Given the description of an element on the screen output the (x, y) to click on. 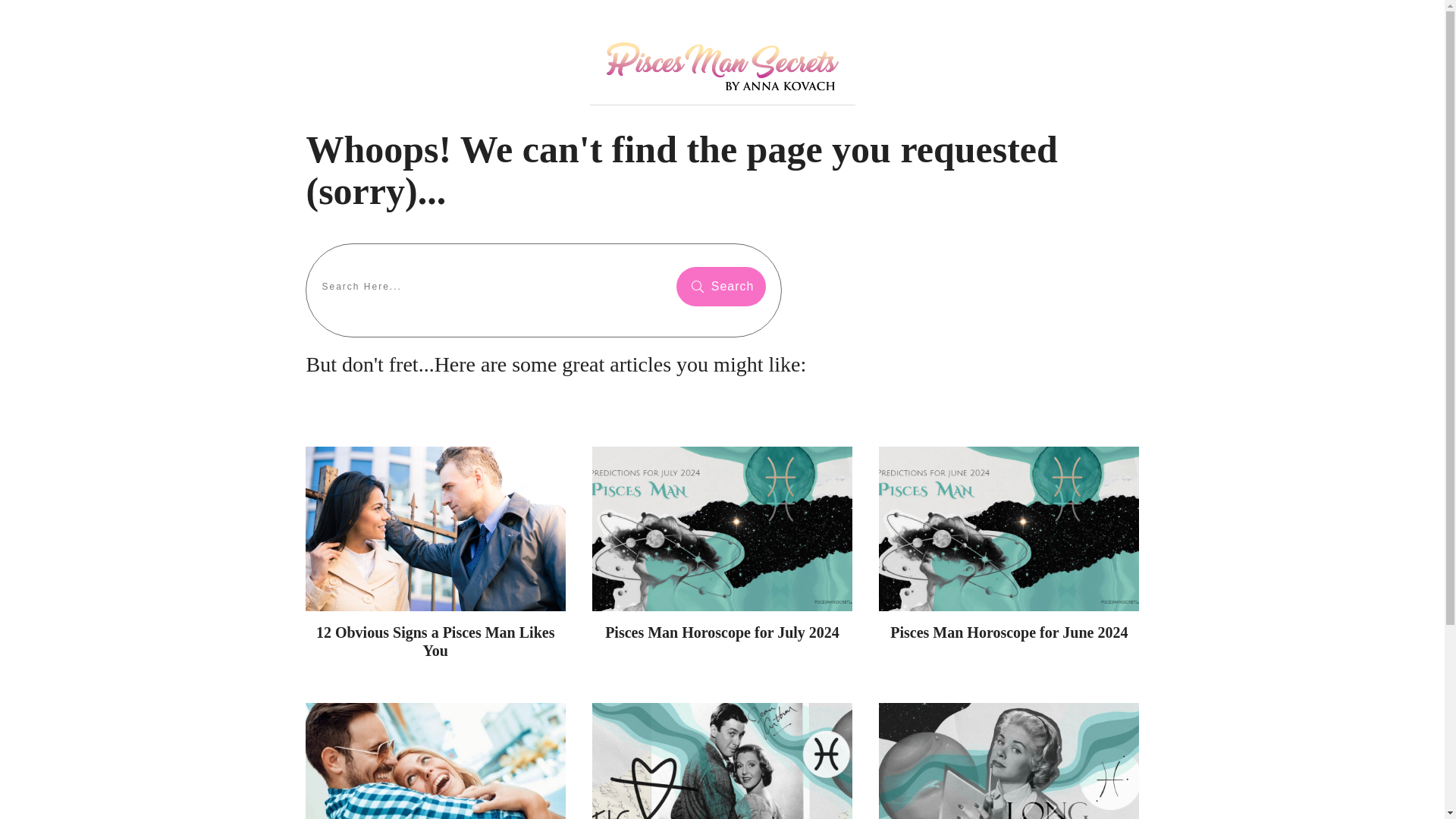
Pisces Man Horoscope for July 2024 (722, 632)
12 Obvious Signs a Pisces Man Likes You (434, 641)
Pisces Man Horoscope for July 2024 (722, 632)
Pisces Man Horoscope for June 2024 (1007, 632)
12 Obvious Signs a Pisces Man Likes You (434, 641)
Search (721, 286)
Pisces Man Horoscope for June 2024 (1007, 632)
Pisces Man Secrets logo (722, 67)
